Given the description of an element on the screen output the (x, y) to click on. 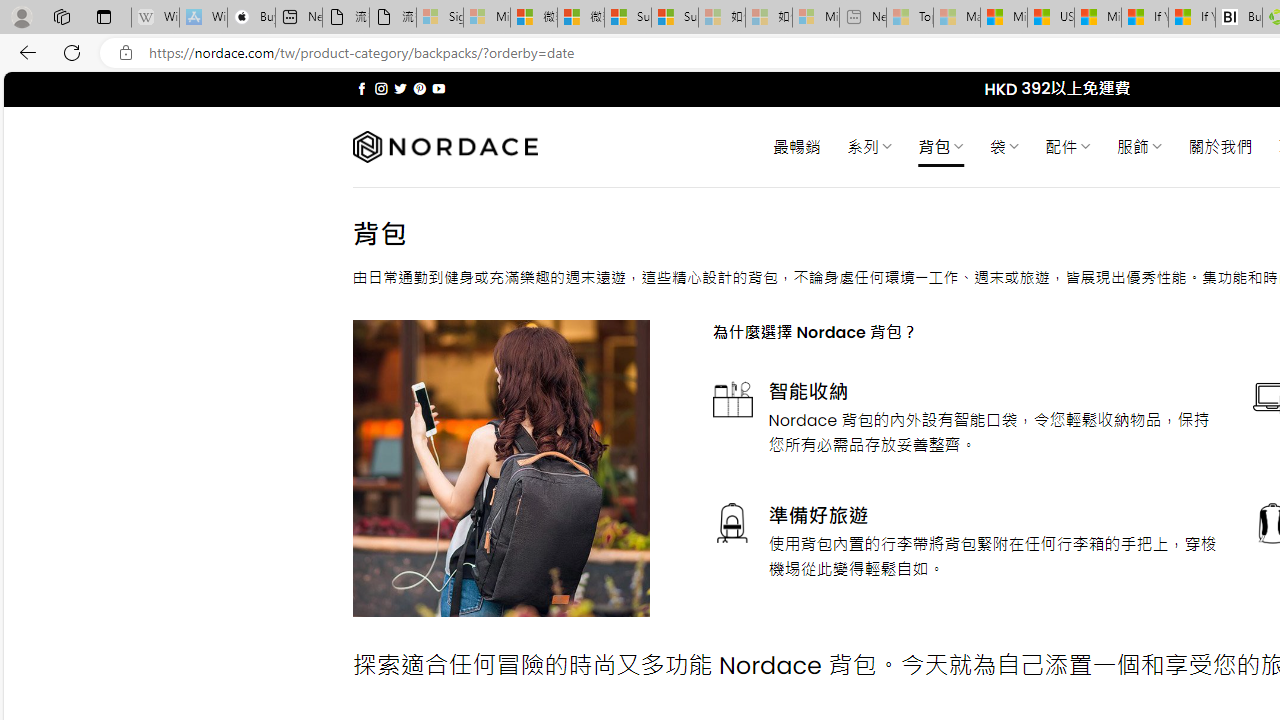
Microsoft account | Account Checkup - Sleeping (815, 17)
Microsoft Services Agreement - Sleeping (486, 17)
Top Stories - MSN - Sleeping (910, 17)
